Given the description of an element on the screen output the (x, y) to click on. 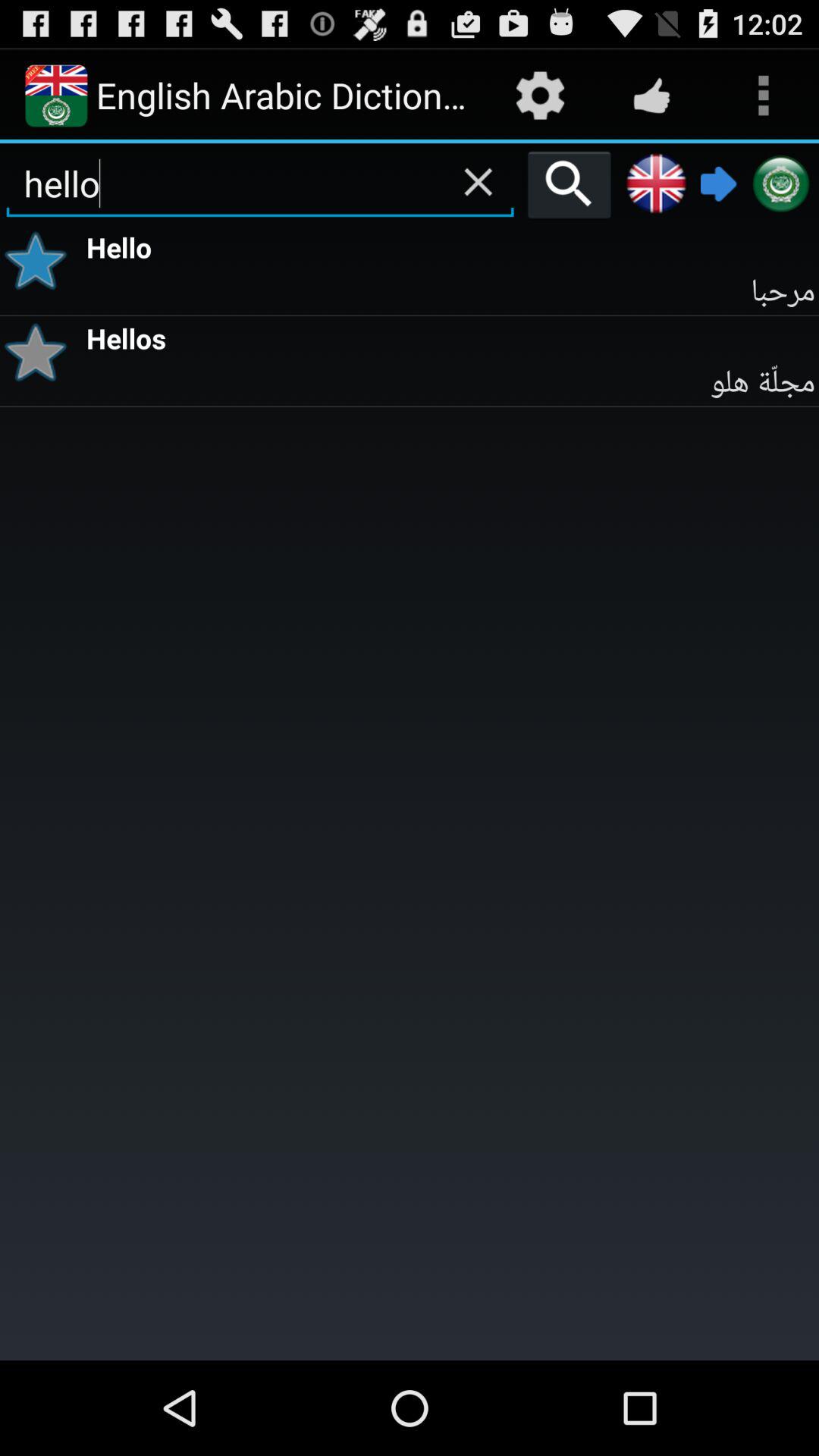
unbookmark (41, 260)
